Given the description of an element on the screen output the (x, y) to click on. 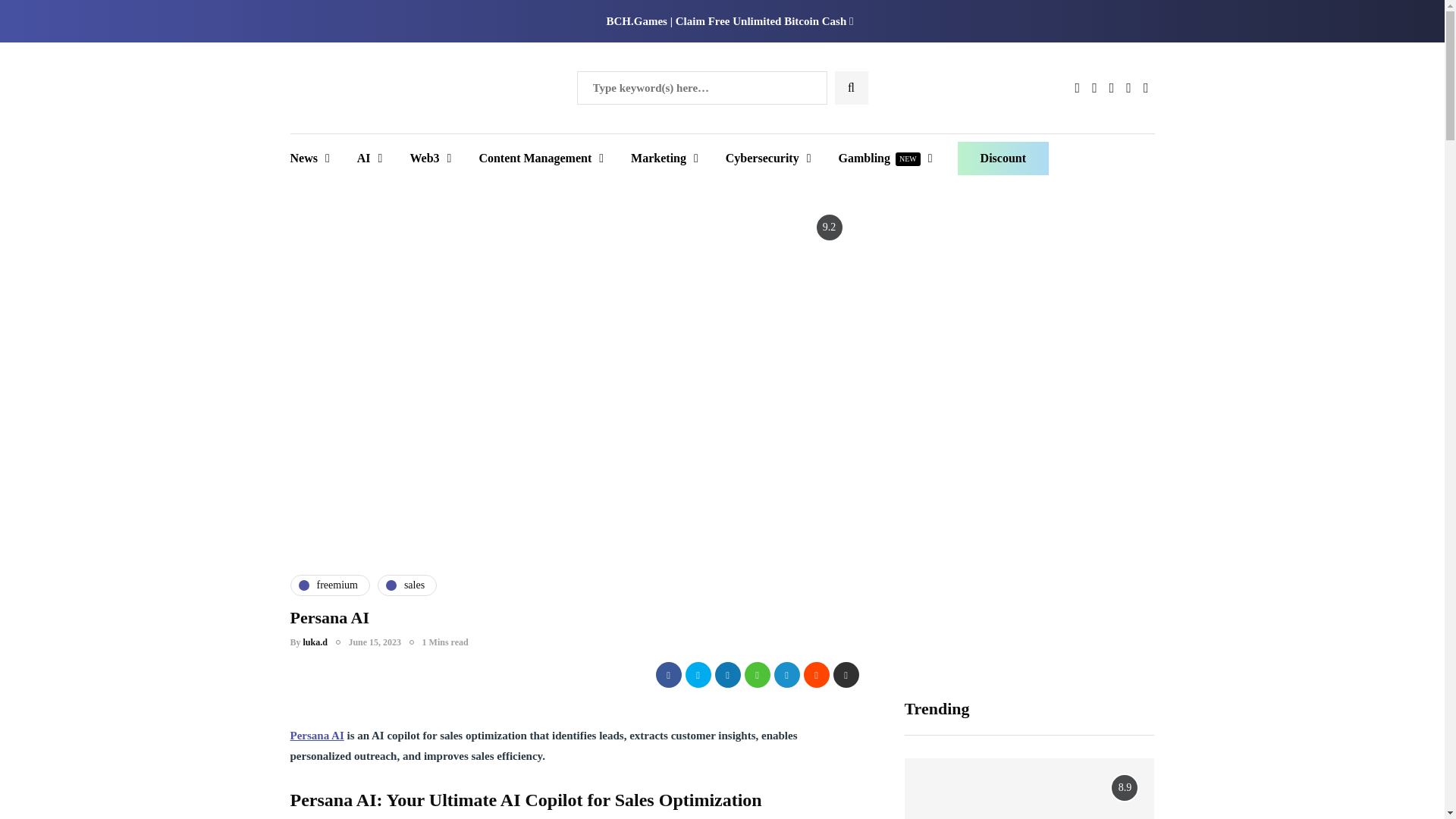
Share with LinkedIn (726, 674)
Share by Email (845, 674)
Share on Reddit (816, 674)
Posts by luka.d (314, 642)
News (315, 158)
Share with Facebook (668, 674)
Search (41, 16)
Share to Telegram (786, 674)
Tweet this (698, 674)
Share to WhatsApp (757, 674)
AI (369, 158)
